Given the description of an element on the screen output the (x, y) to click on. 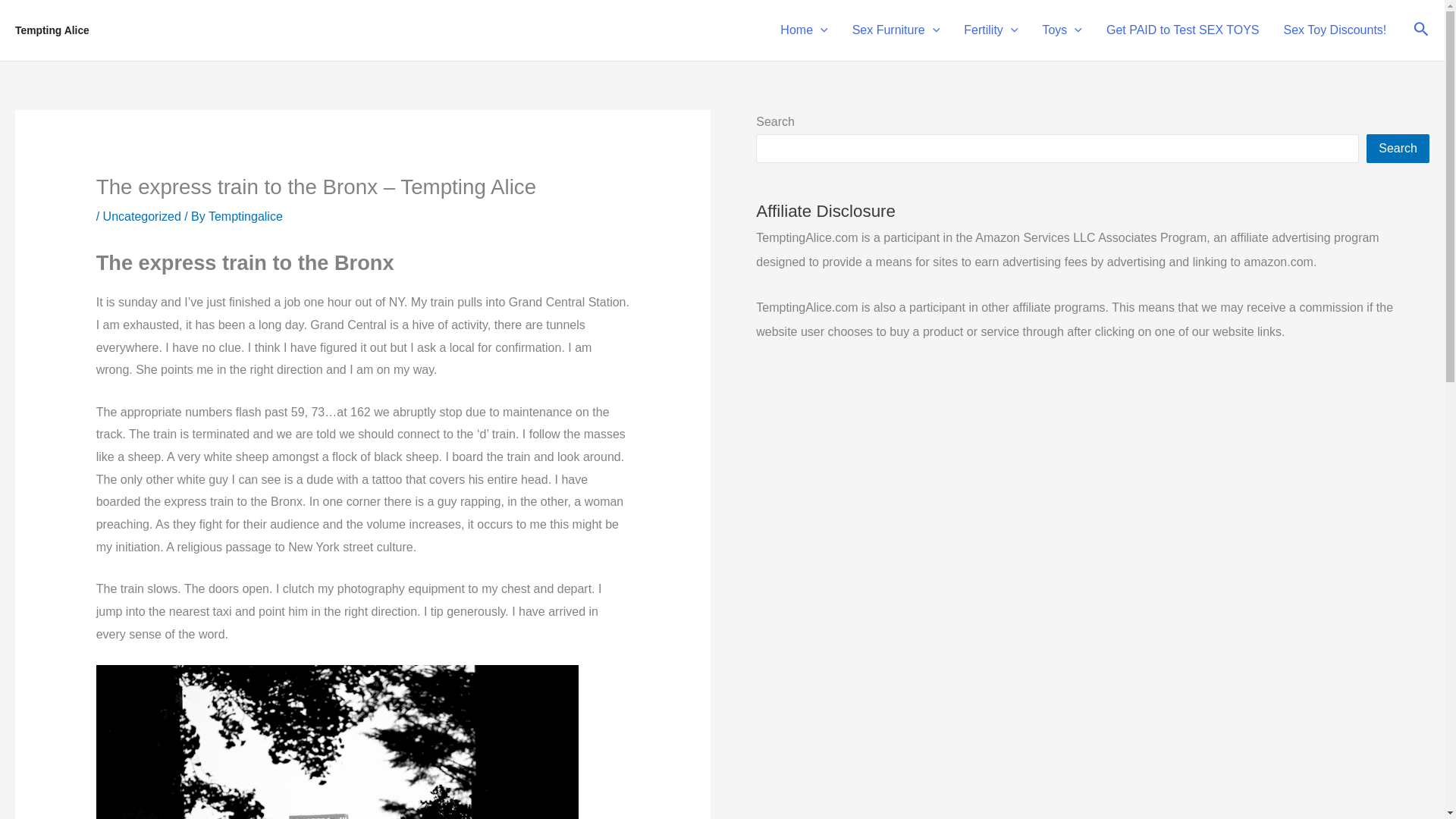
Uncategorized (141, 215)
View all posts by Temptingalice (245, 215)
Fertility (990, 30)
Toys (1061, 30)
Get PAID to Test SEX TOYS (1182, 30)
Sex Toy Discounts! (1335, 30)
Tempting Alice (51, 30)
Temptingalice (245, 215)
Home (804, 30)
Sex Furniture (896, 30)
